Given the description of an element on the screen output the (x, y) to click on. 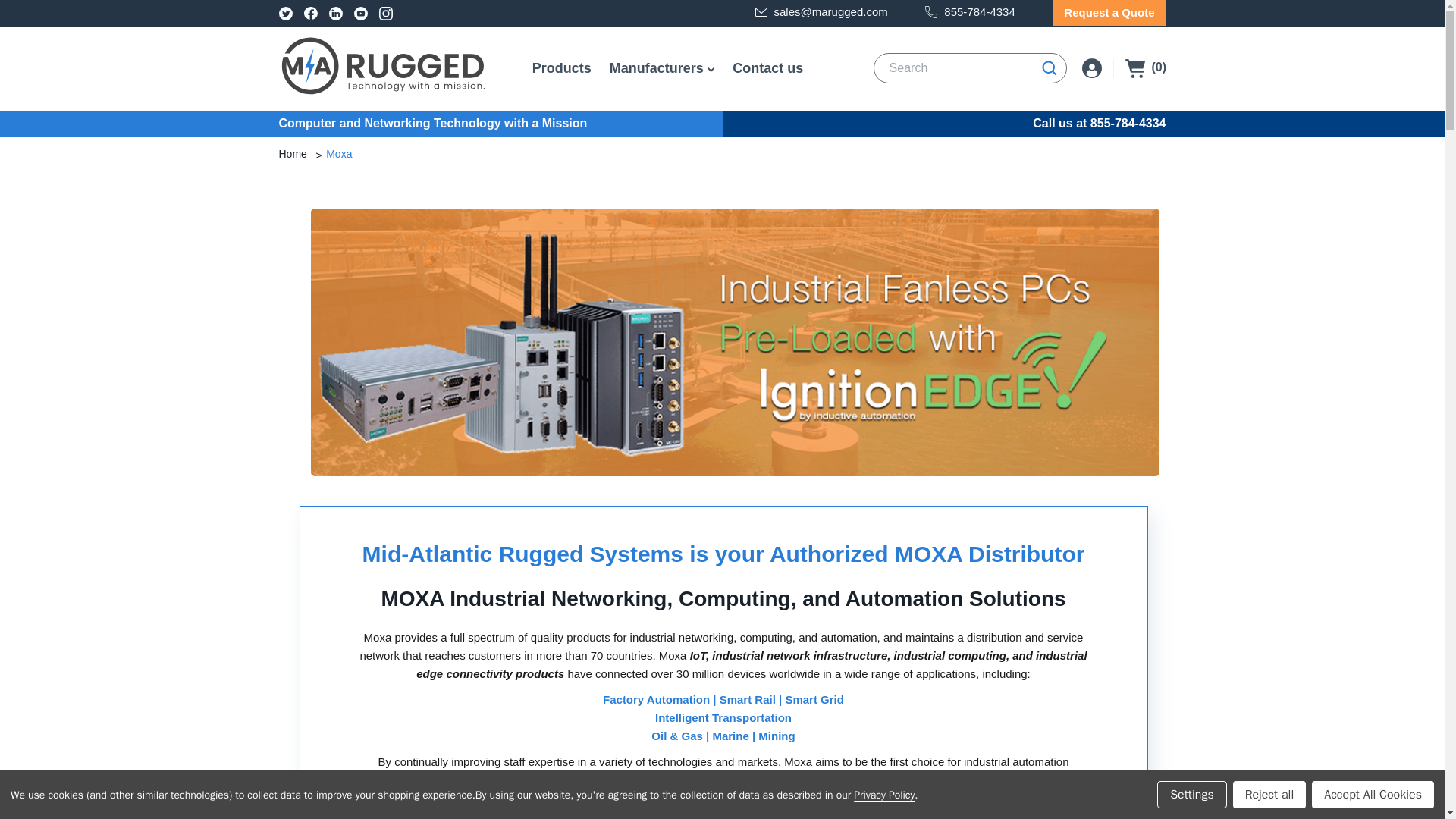
855-784-4334 (969, 12)
Facebook (309, 12)
Home (294, 154)
0 (1145, 67)
Manufacturers (656, 67)
Linkedin (335, 12)
Products (561, 67)
Moxa (339, 154)
Youtube (359, 12)
Request a Quote (1109, 12)
